Given the description of an element on the screen output the (x, y) to click on. 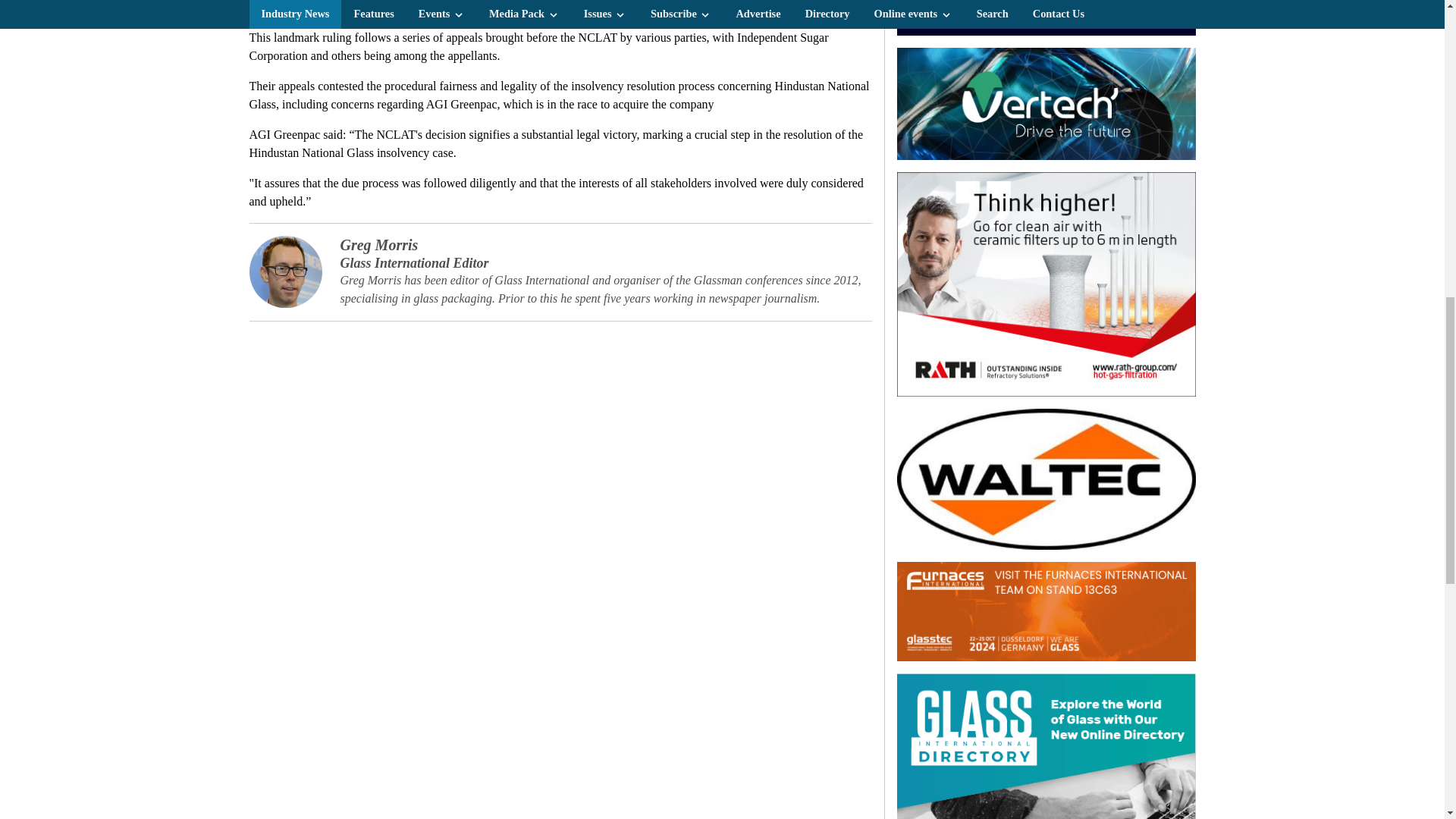
Waltec (1045, 478)
Furnaces International (1045, 610)
Glass International Directory (1045, 746)
Vertech (1045, 103)
Siemens (1045, 18)
RATH (1045, 283)
